Given the description of an element on the screen output the (x, y) to click on. 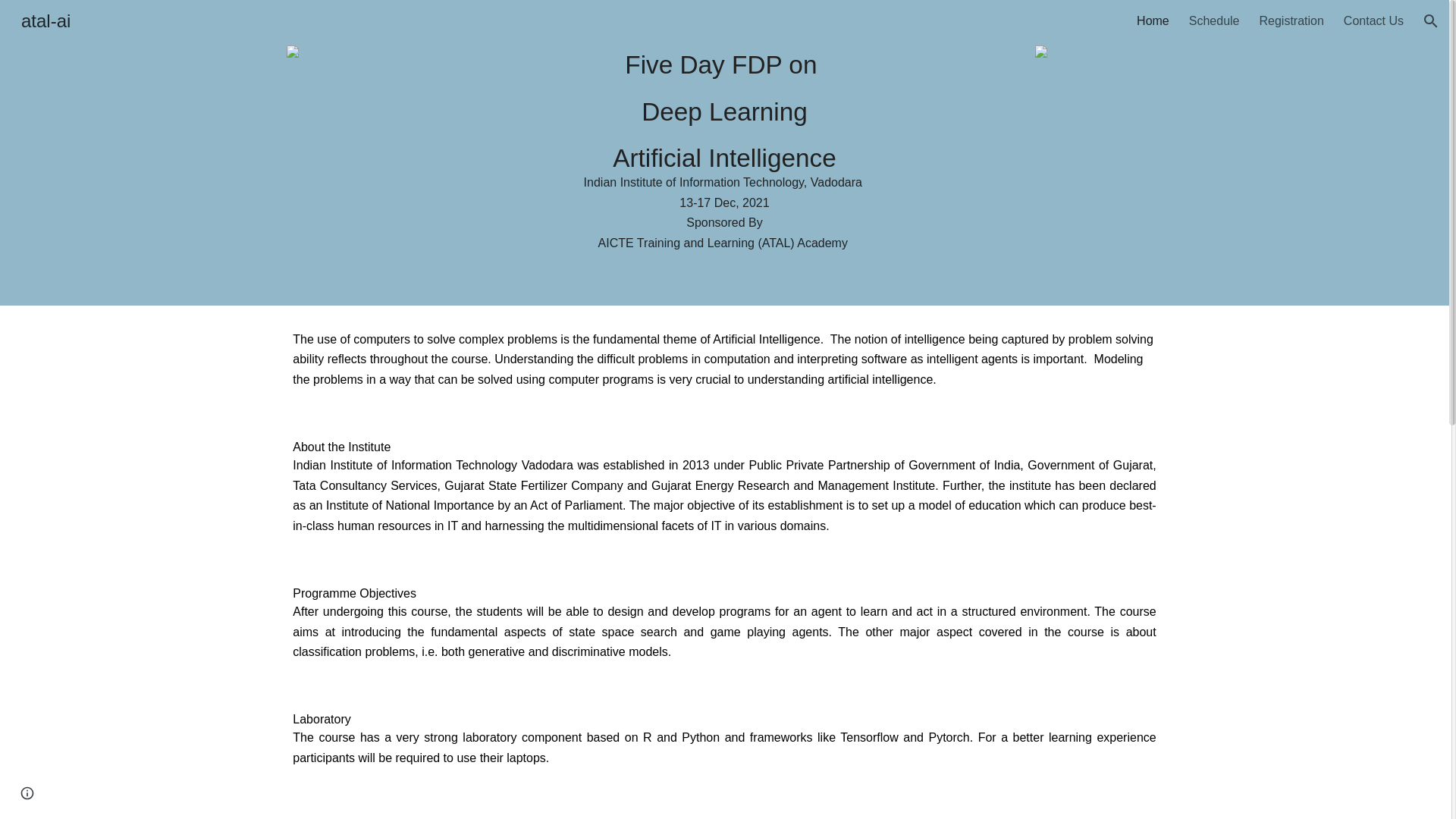
atal-ai (45, 19)
Registration (1291, 20)
Home (1153, 20)
Schedule (1214, 20)
Contact Us (1373, 20)
